Given the description of an element on the screen output the (x, y) to click on. 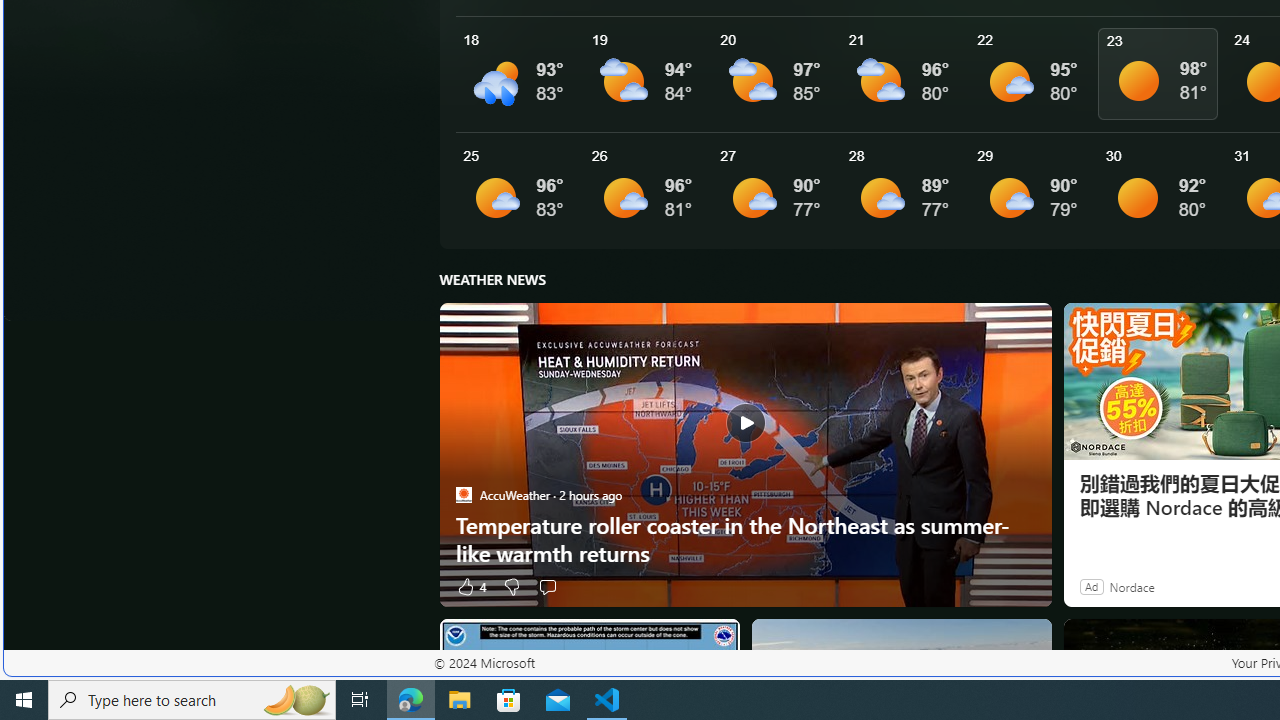
4 Like (470, 586)
See More Details (1162, 190)
